Given the description of an element on the screen output the (x, y) to click on. 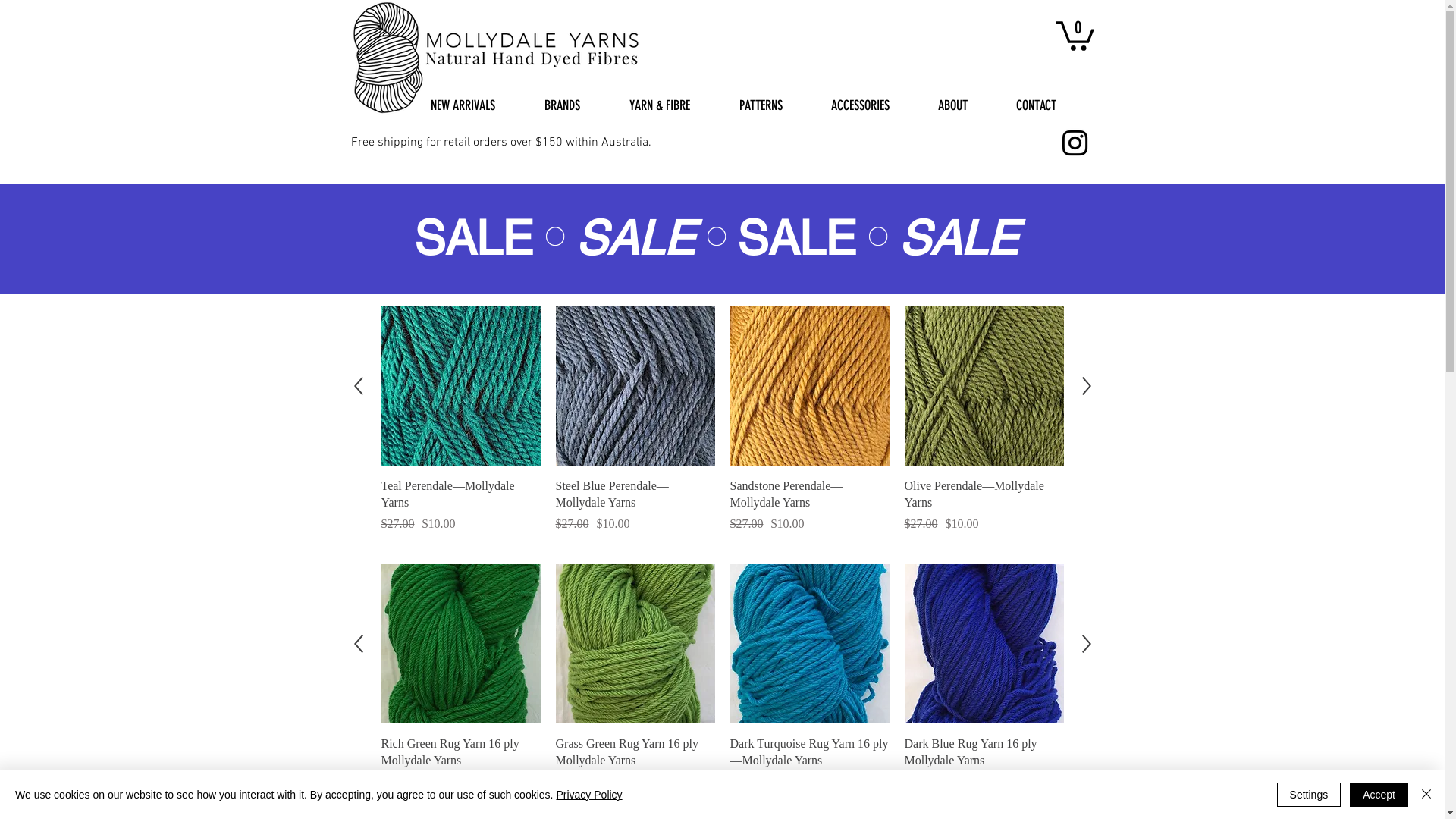
NEW ALPACA YARNS  Element type: text (793, 425)
Settings Element type: text (1309, 794)
ABOUT Element type: text (965, 105)
Accept Element type: text (1378, 794)
Privacy Policy Element type: text (588, 794)
ACCESSORIES Element type: text (872, 105)
0 Element type: text (1074, 34)
NEW ARRIVALS Element type: text (475, 105)
CONTACT Element type: text (1048, 105)
